Given the description of an element on the screen output the (x, y) to click on. 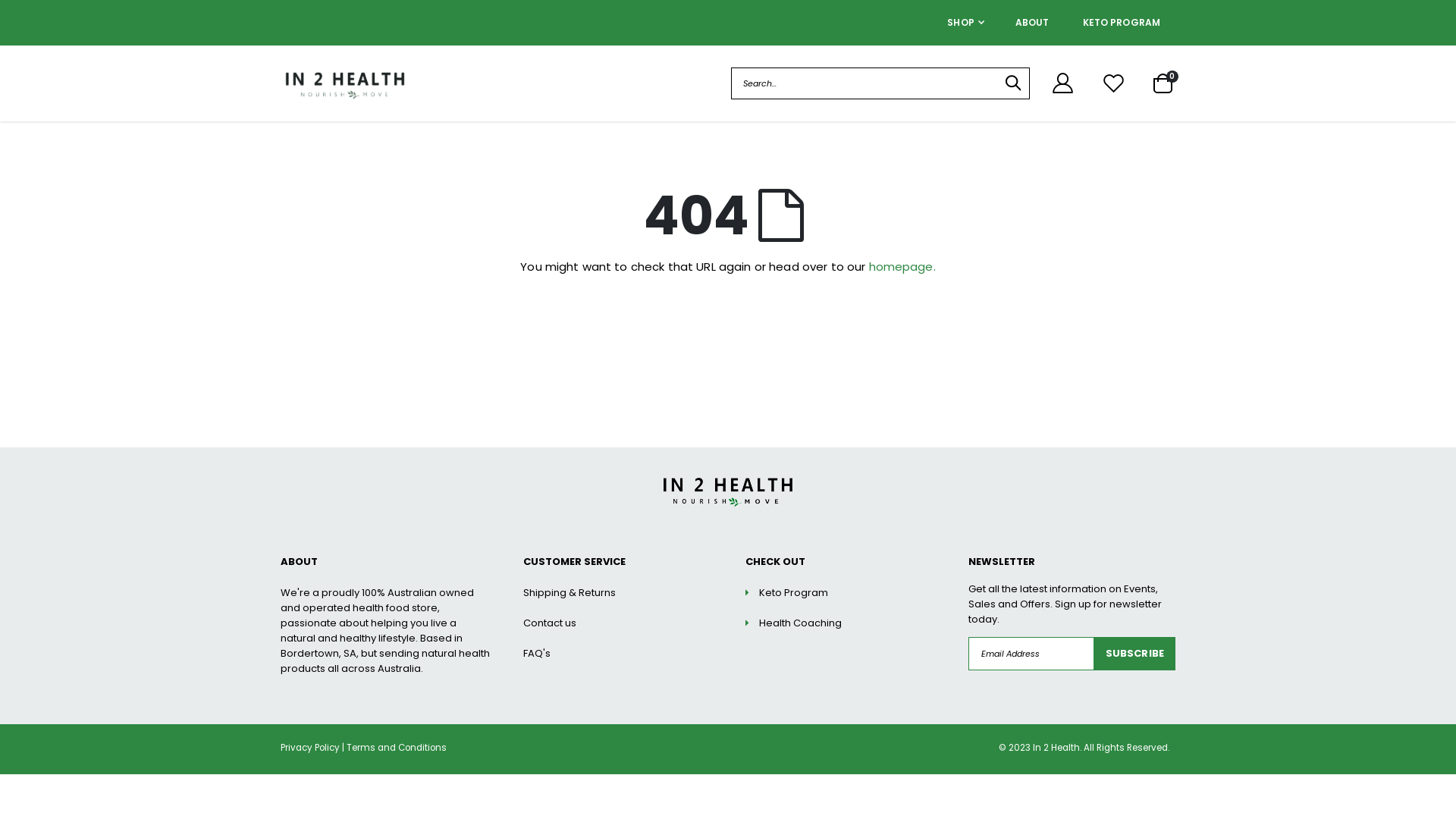
Terms and Conditions Element type: text (396, 747)
Wishlist Element type: hover (1113, 83)
ABOUT Element type: text (1032, 22)
Cart
0 Element type: text (1163, 83)
Contact us Element type: text (549, 622)
SUBSCRIBE Element type: text (1134, 653)
Keto Program Element type: text (793, 592)
Privacy Policy Element type: text (309, 747)
Shipping & Returns Element type: text (569, 592)
FAQ's Element type: text (536, 653)
in2health Element type: hover (344, 83)
Health Coaching Element type: text (800, 622)
SHOP Element type: text (965, 22)
homepage. Element type: text (902, 266)
KETO PROGRAM Element type: text (1121, 22)
Search Element type: hover (1012, 83)
